Given the description of an element on the screen output the (x, y) to click on. 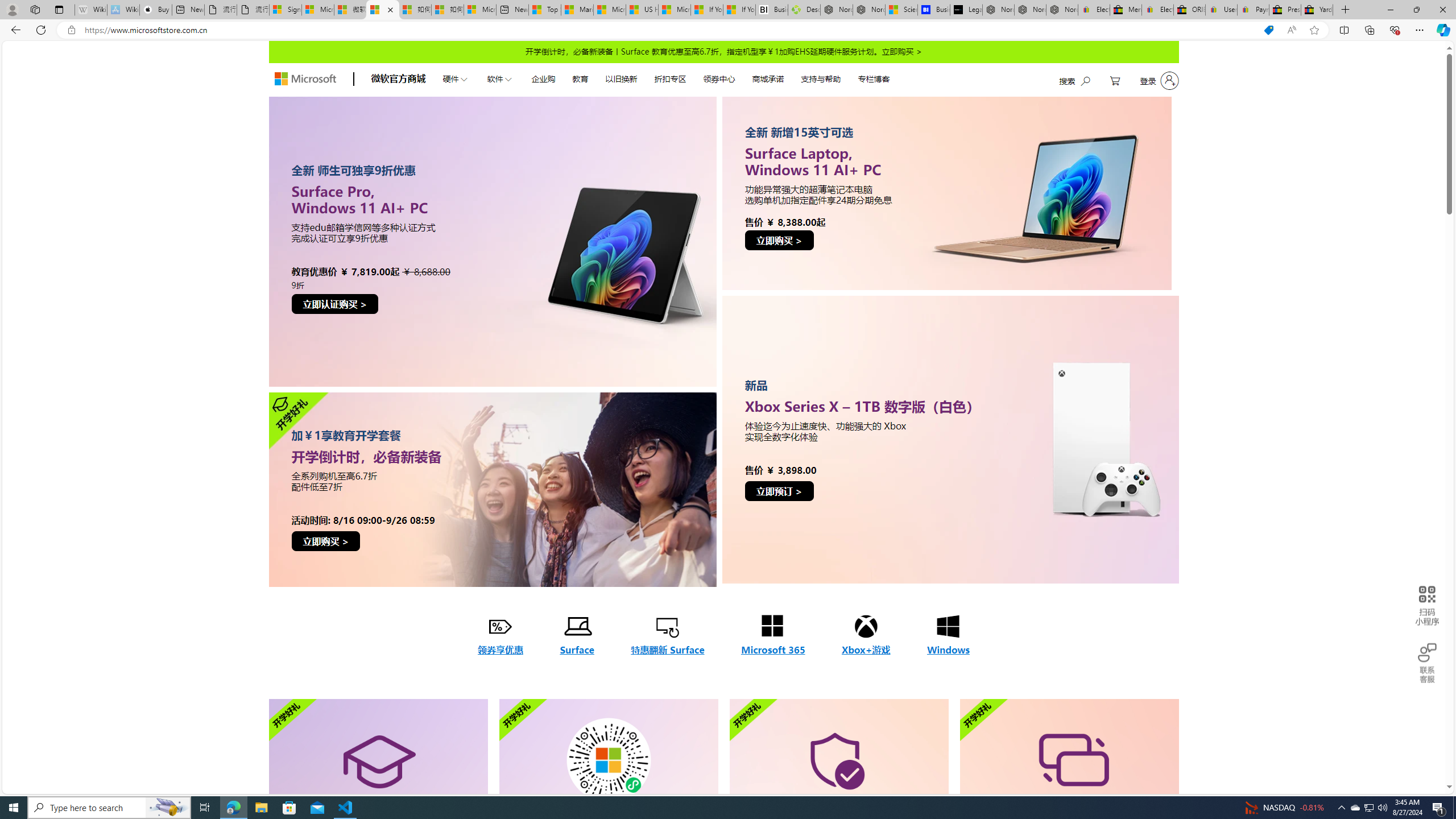
Payments Terms of Use | eBay.com (1252, 9)
Series X (950, 438)
Marine life - MSN (577, 9)
Series X (950, 438)
